Given the description of an element on the screen output the (x, y) to click on. 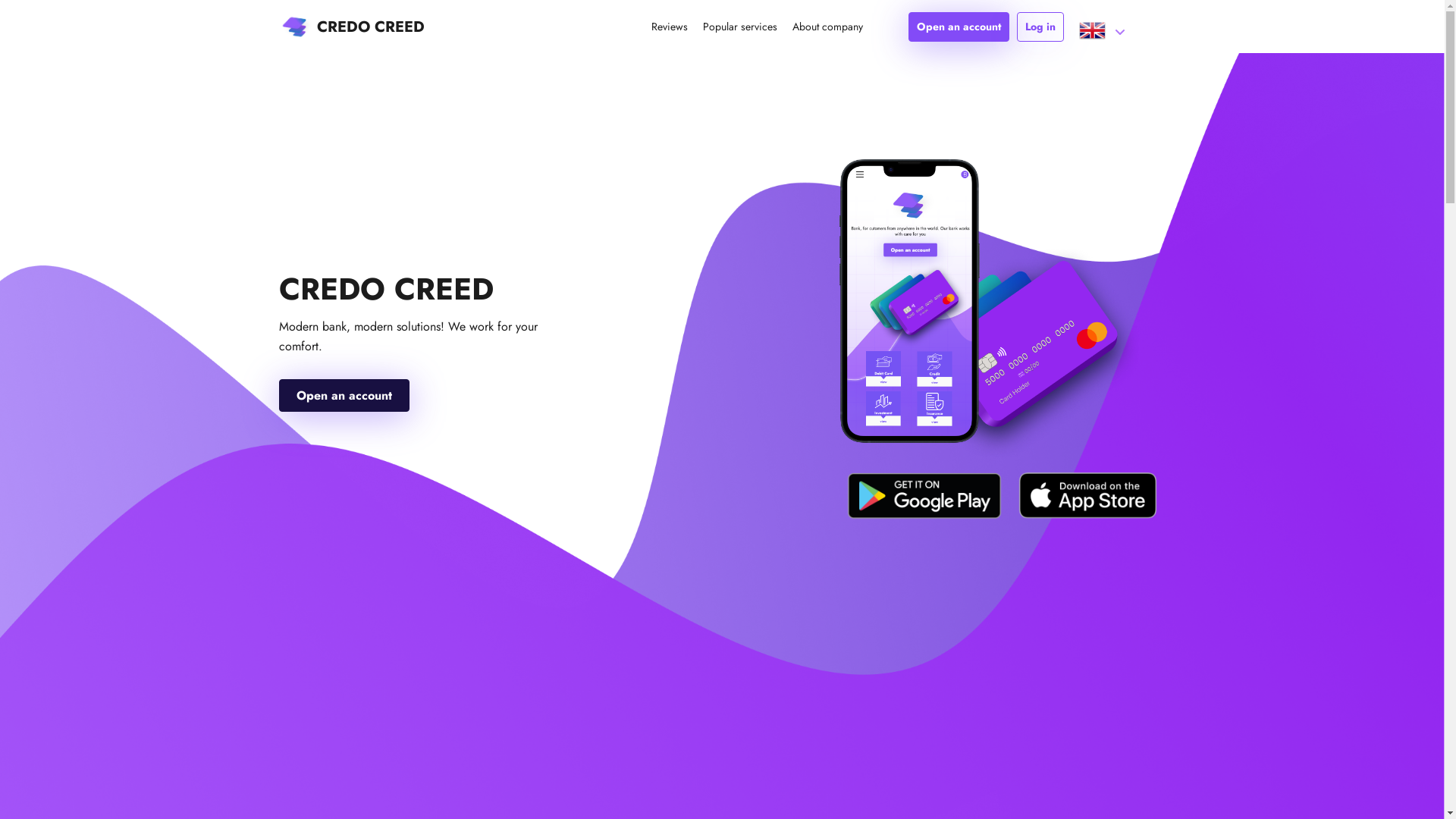
CREDO CREED Element type: text (351, 26)
About company Element type: text (826, 26)
Log in Element type: text (1039, 26)
Open an account Element type: text (958, 26)
Open an account Element type: text (344, 395)
Reviews Element type: text (668, 26)
Popular services Element type: text (739, 26)
